Given the description of an element on the screen output the (x, y) to click on. 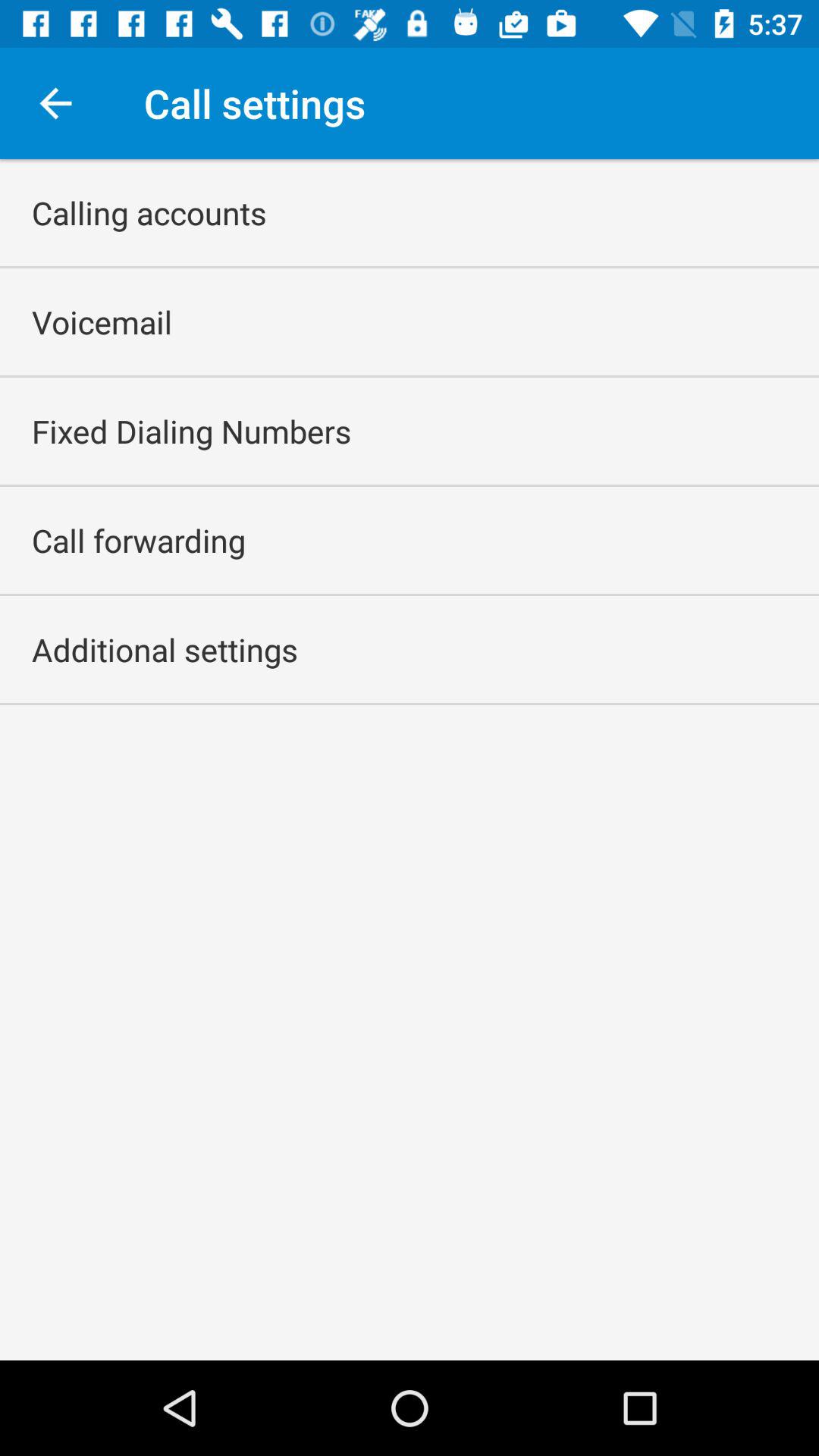
scroll until additional settings app (164, 649)
